Given the description of an element on the screen output the (x, y) to click on. 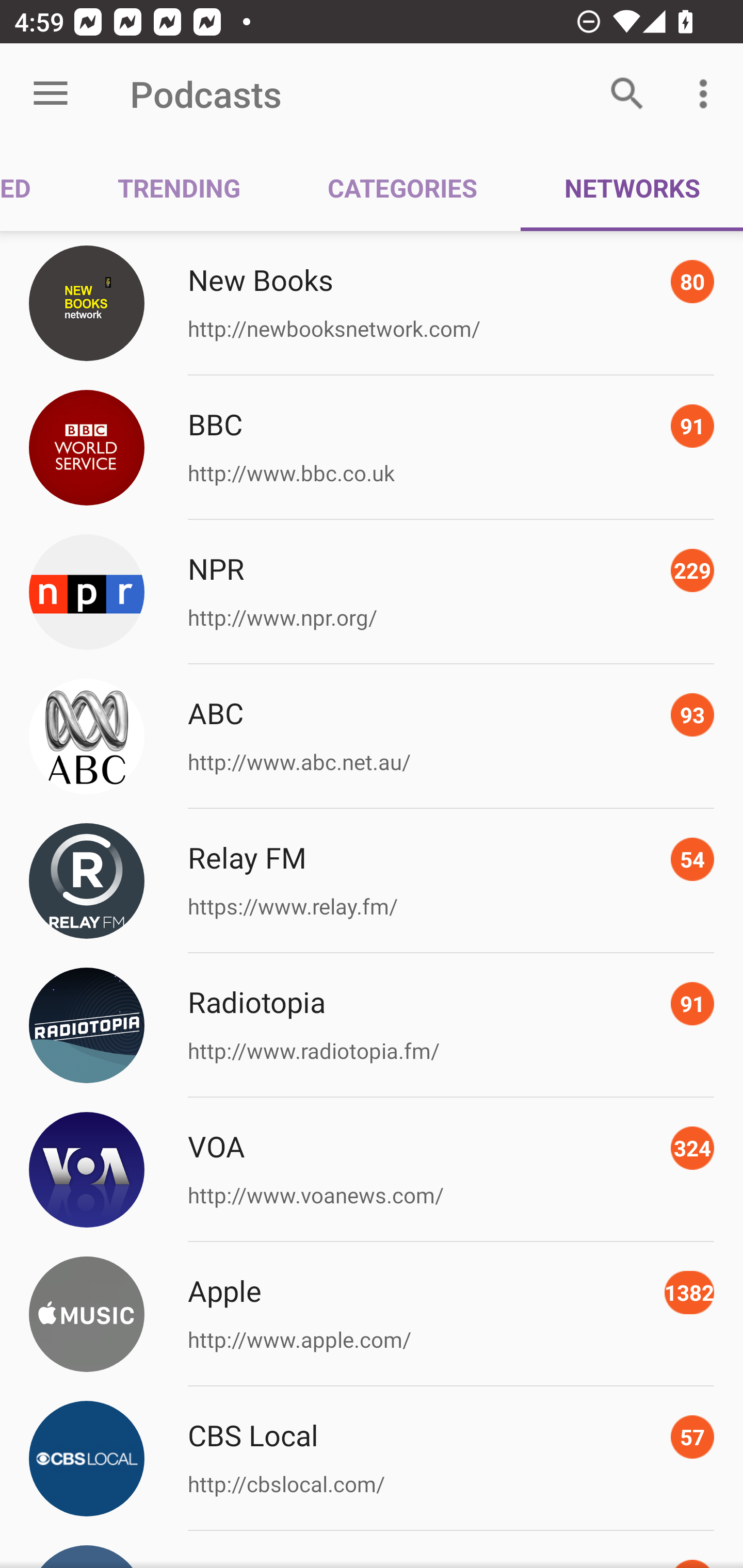
Open menu (50, 93)
Search (626, 93)
More options (706, 93)
TRENDING (178, 187)
CATEGORIES (401, 187)
NETWORKS (631, 187)
Picture New Books 80 http://newbooksnetwork.com/ (371, 302)
Picture BBC 91 http://www.bbc.co.uk (371, 447)
Picture NPR 229 http://www.npr.org/ (371, 592)
Picture ABC 93 http://www.abc.net.au/ (371, 736)
Picture Relay FM 54 https://www.relay.fm/ (371, 881)
Picture Radiotopia 91 http://www.radiotopia.fm/ (371, 1025)
Picture VOA 324 http://www.voanews.com/ (371, 1169)
Picture Apple 1382 http://www.apple.com/ (371, 1313)
Picture CBS Local 57 http://cbslocal.com/ (371, 1458)
